Given the description of an element on the screen output the (x, y) to click on. 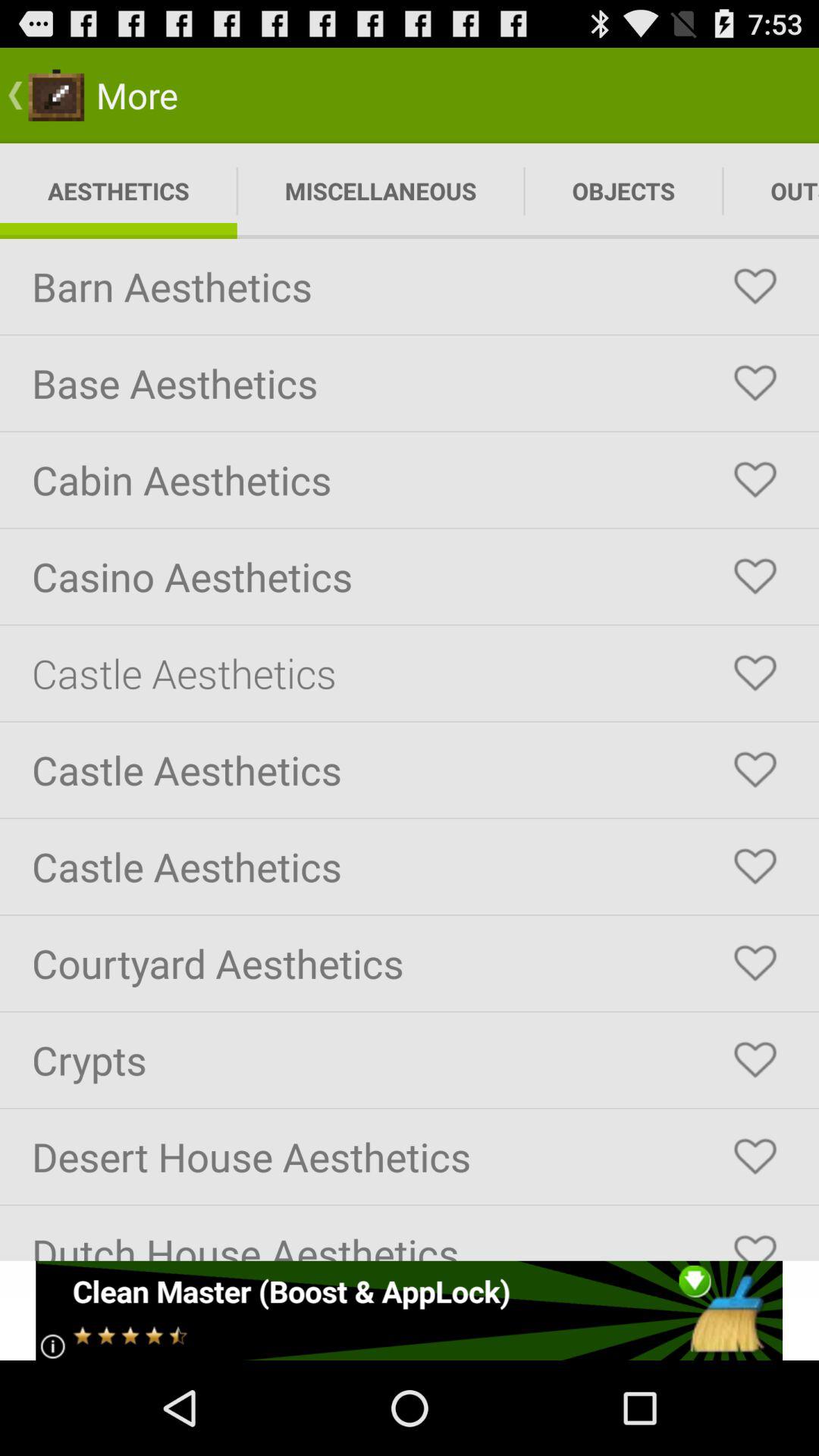
go to lke (755, 673)
